Given the description of an element on the screen output the (x, y) to click on. 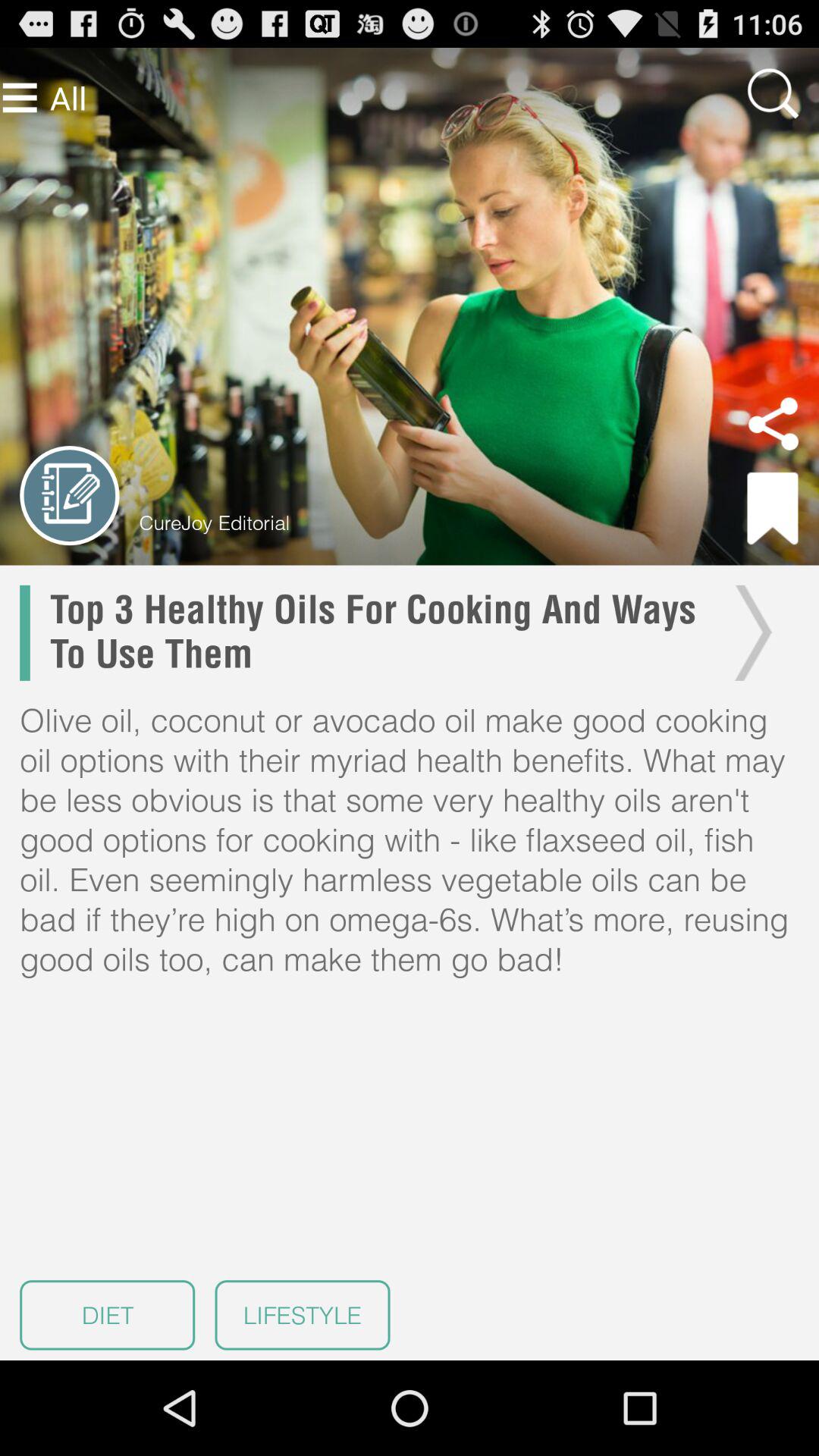
go to previous (69, 495)
